Given the description of an element on the screen output the (x, y) to click on. 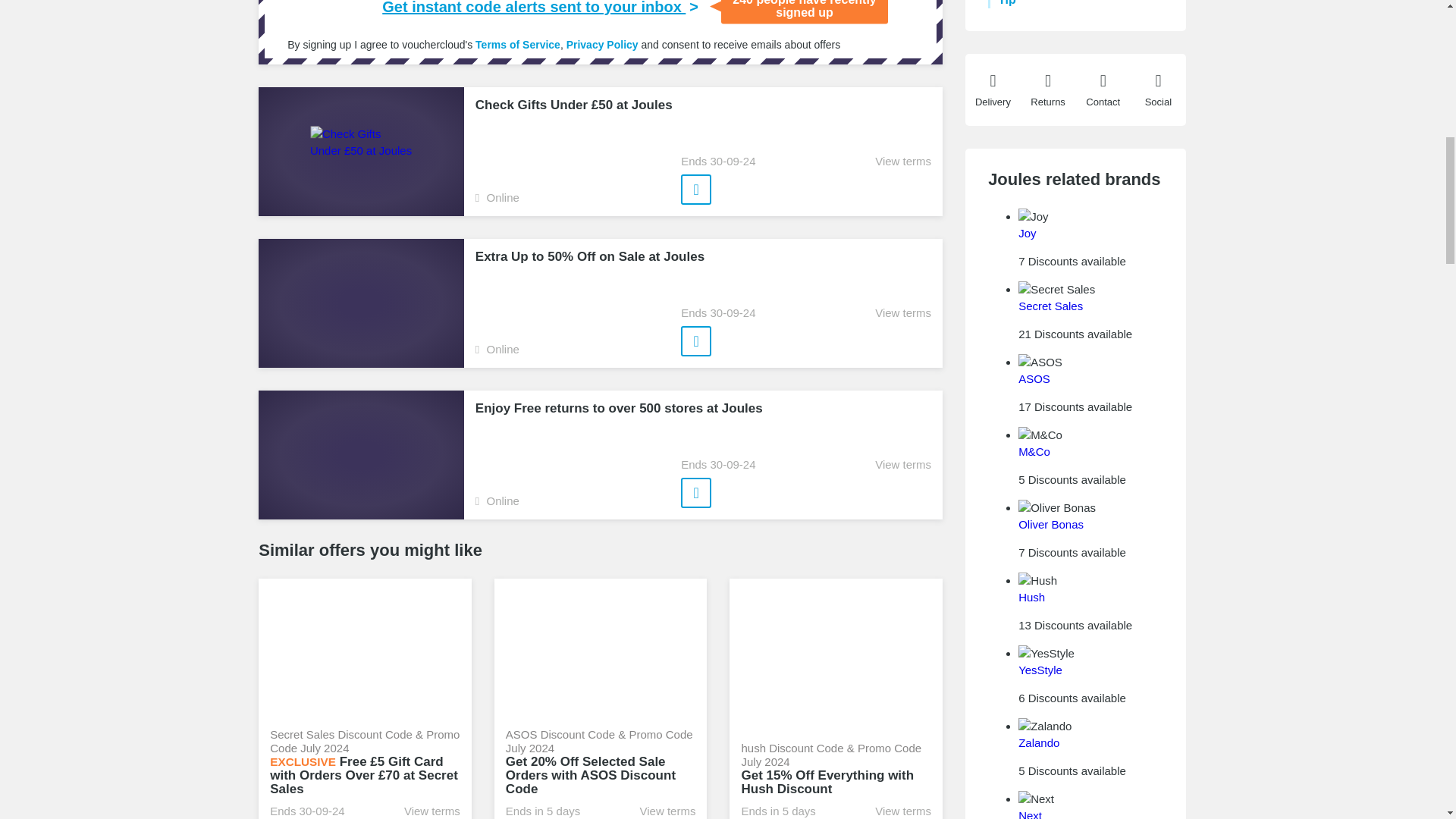
Joy (1026, 232)
